Given the description of an element on the screen output the (x, y) to click on. 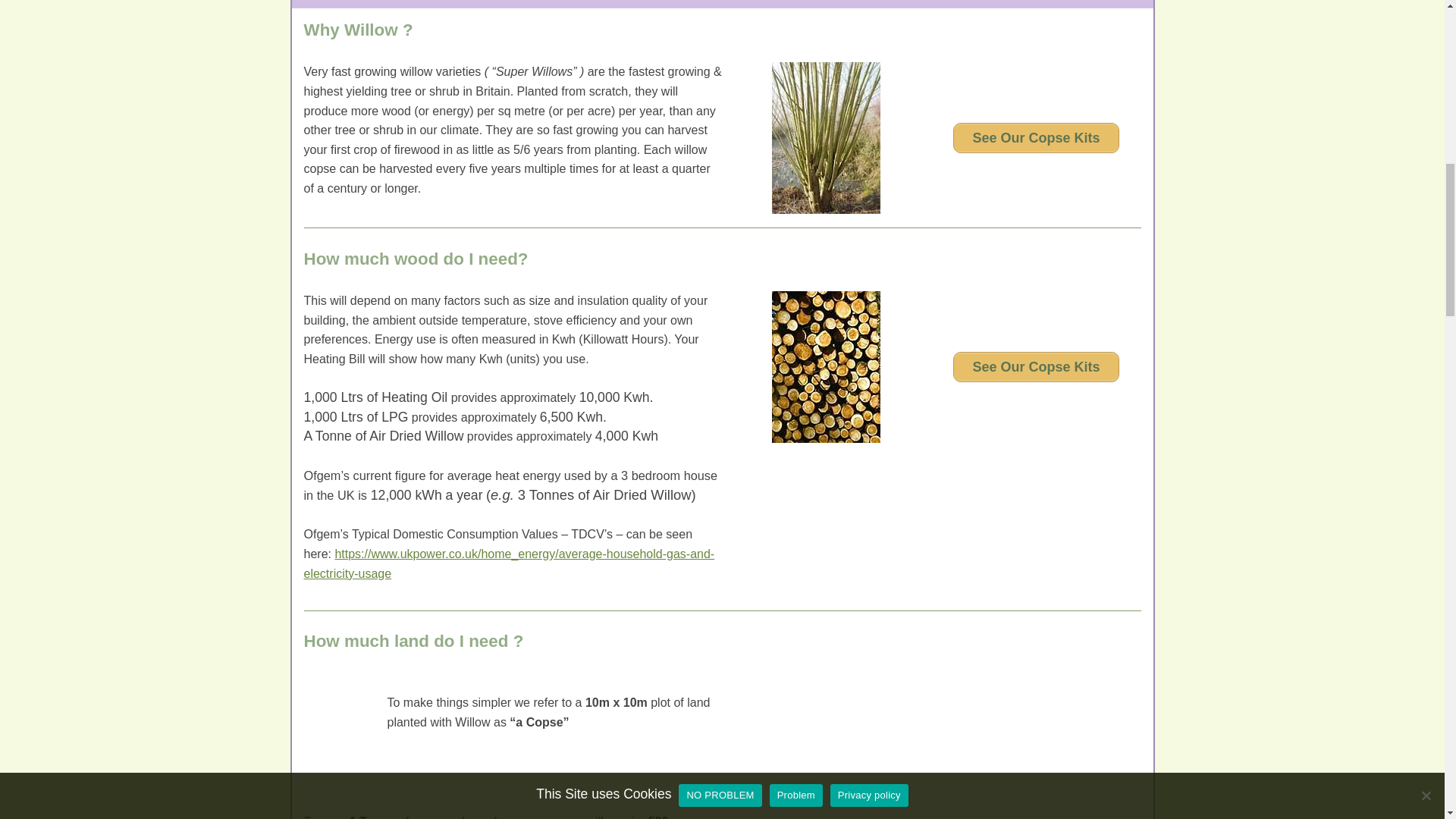
See Our Copse Kits (1035, 137)
See Our Copse Kits (1035, 367)
